Given the description of an element on the screen output the (x, y) to click on. 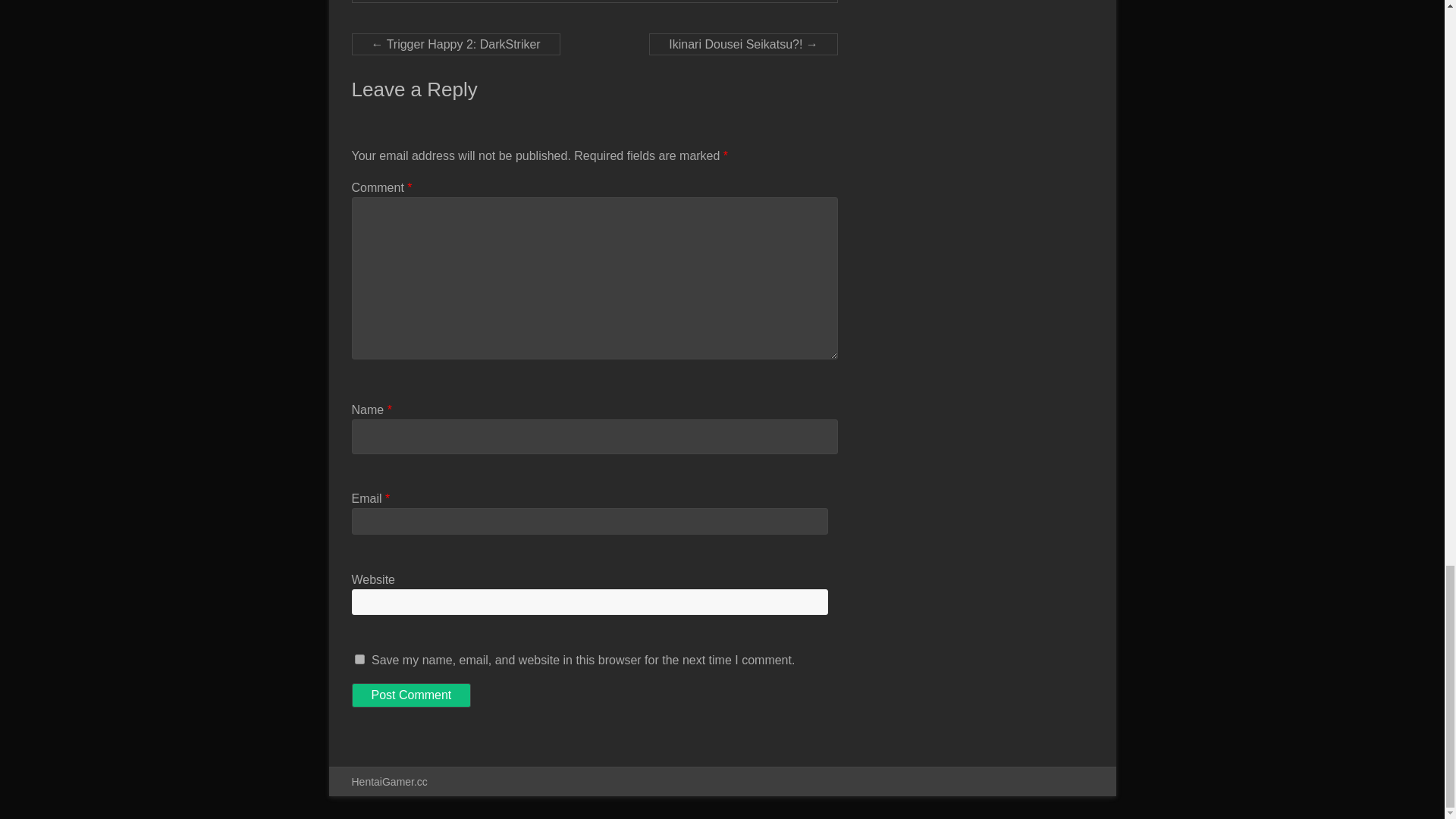
Post Comment (411, 695)
Post Comment (411, 695)
yes (360, 659)
